Given the description of an element on the screen output the (x, y) to click on. 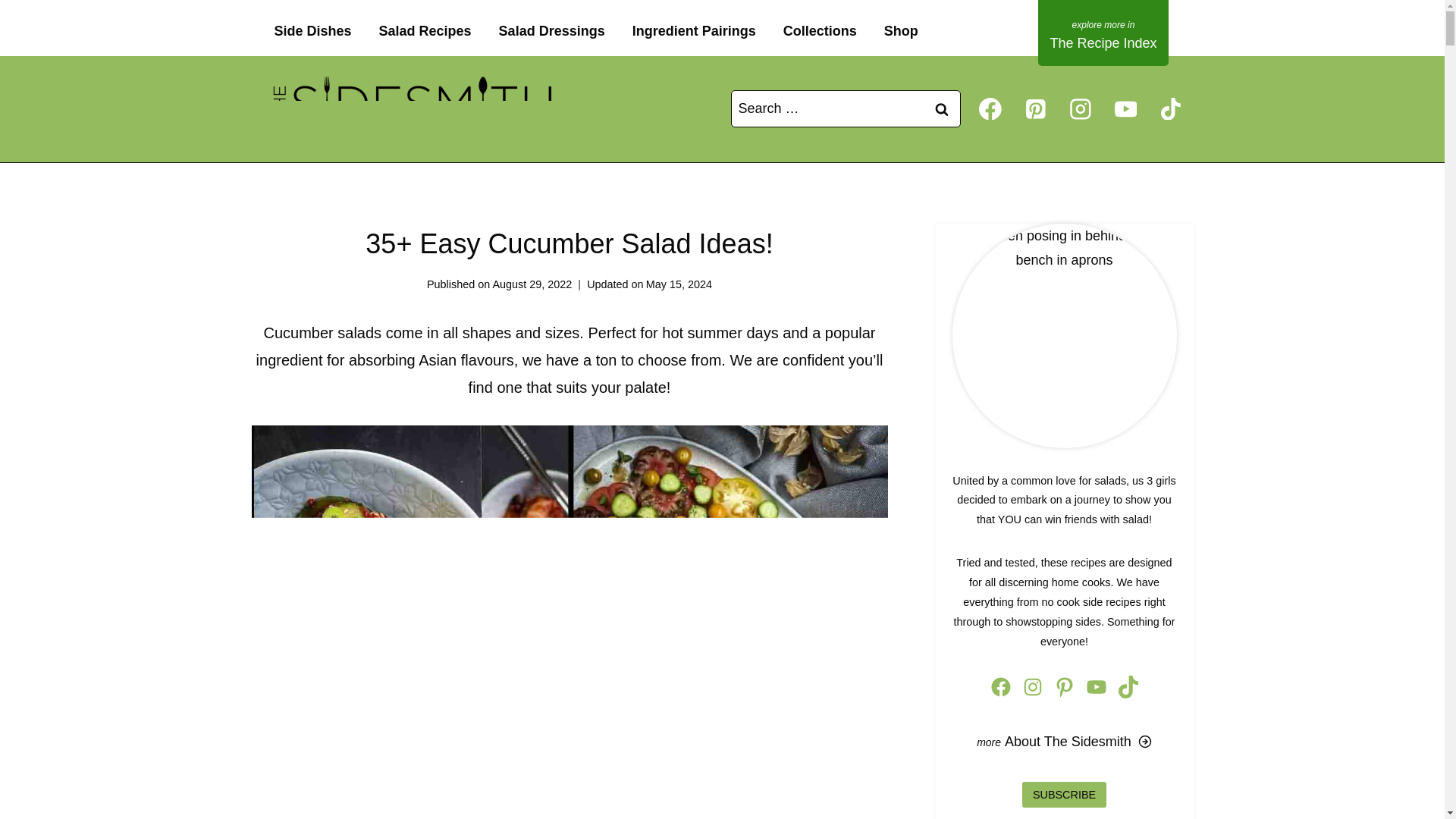
Search (941, 108)
Salad Recipes (424, 30)
Shop (900, 30)
Search (941, 108)
The Recipe Index (1102, 33)
Ingredient Pairings (694, 30)
Side Dishes (312, 30)
Collections (820, 30)
Salad Dressings (551, 30)
Search (941, 108)
